Given the description of an element on the screen output the (x, y) to click on. 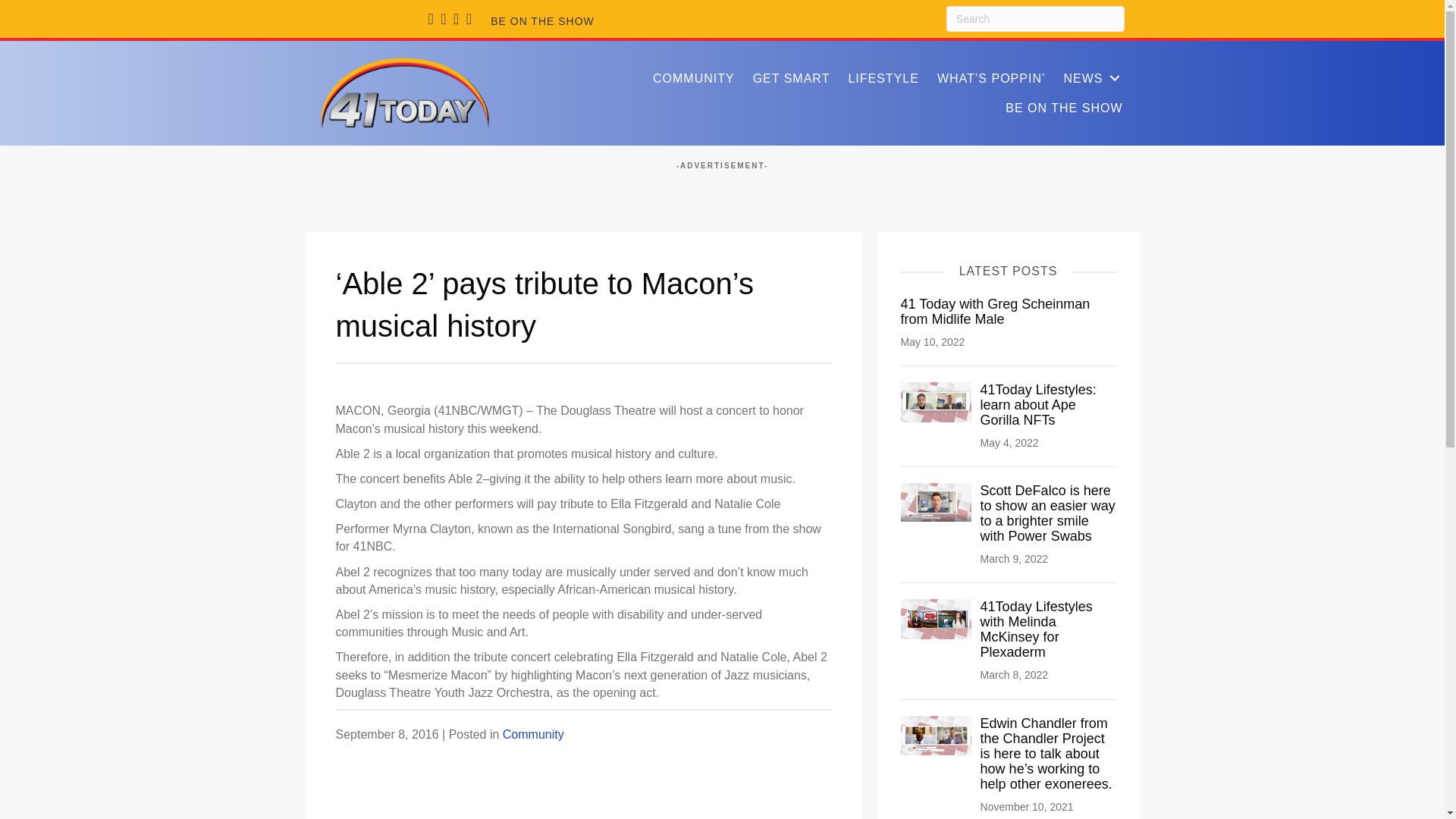
41Today Lifestyles: learn about Ape Gorilla NFTs (1037, 404)
GET SMART (792, 78)
41 Today with Greg Scheinman from Midlife Male (995, 310)
LIFESTYLE (882, 78)
BE ON THE SHOW (542, 21)
41Today Lifestyles with Melinda McKinsey for Plexaderm (936, 617)
41Today Lifestyles with Melinda McKinsey for Plexaderm (1036, 629)
41Today Lifestyles with Melinda McKinsey for Plexaderm (1036, 629)
Community (533, 734)
NEWS (1092, 78)
BE ON THE SHOW (1063, 107)
41Today (404, 93)
41 Today with Greg Scheinman from Midlife Male (995, 310)
